Given the description of an element on the screen output the (x, y) to click on. 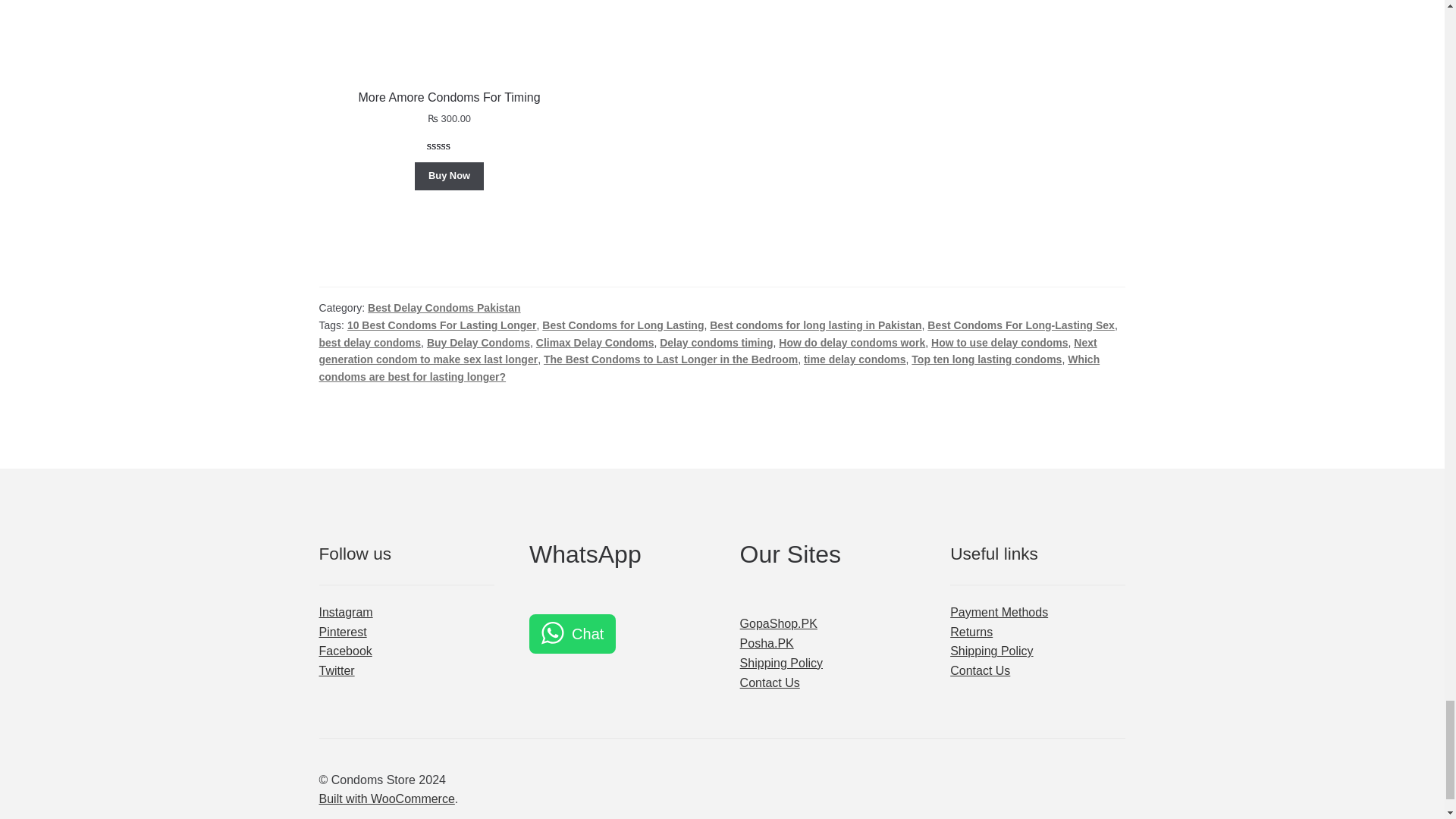
Buy Now (449, 176)
Best Delay Condoms Pakistan (444, 307)
WooCommerce - The Best eCommerce Platform for WordPress (386, 798)
More Amore Condoms For Timing (449, 55)
